Given the description of an element on the screen output the (x, y) to click on. 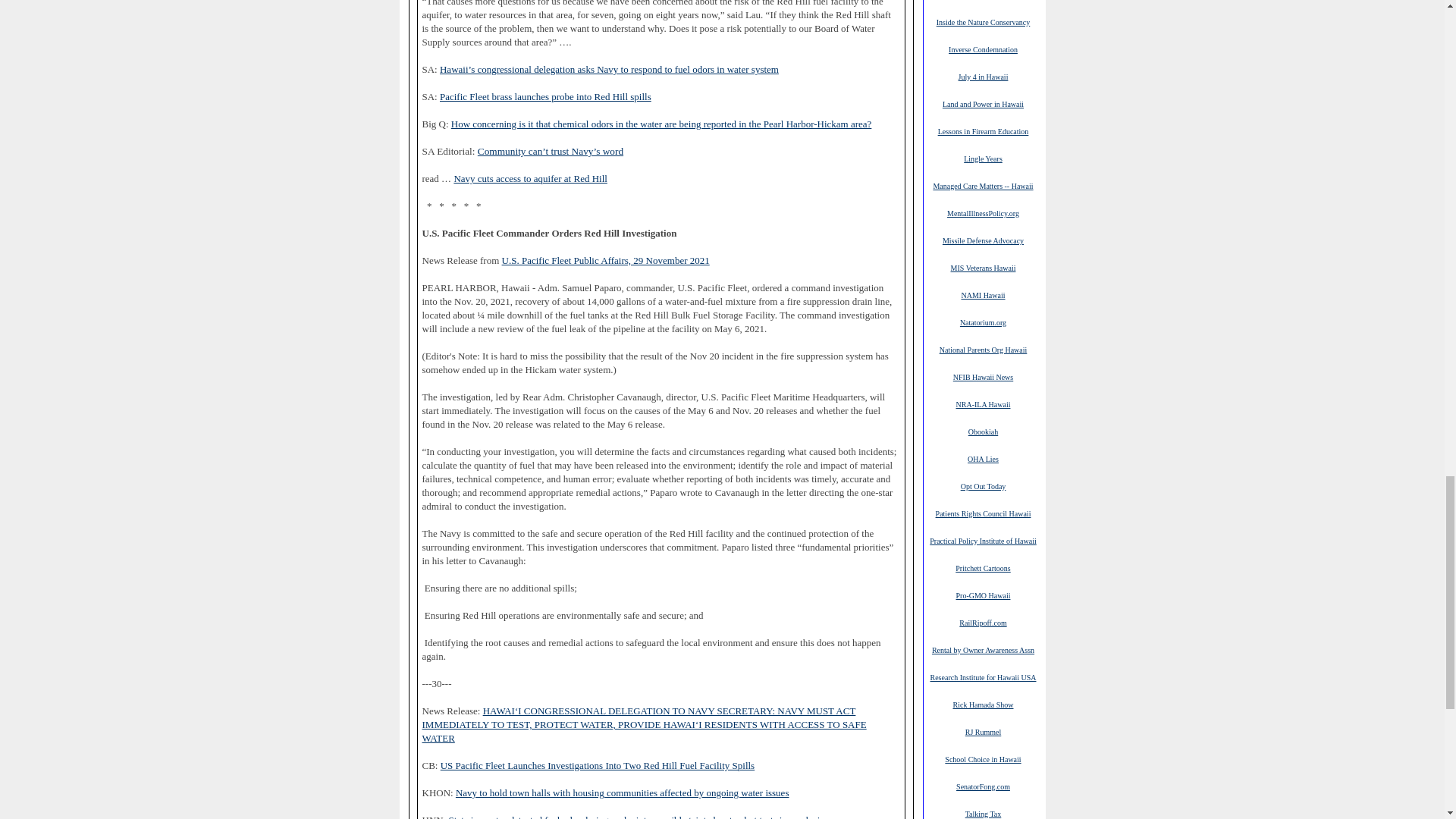
Navy cuts access to aquifer at Red Hill (529, 178)
Pacific Fleet brass launches probe into Red Hill spills (544, 96)
U.S. Pacific Fleet Public Affairs, 29 November 2021 (606, 260)
